Given the description of an element on the screen output the (x, y) to click on. 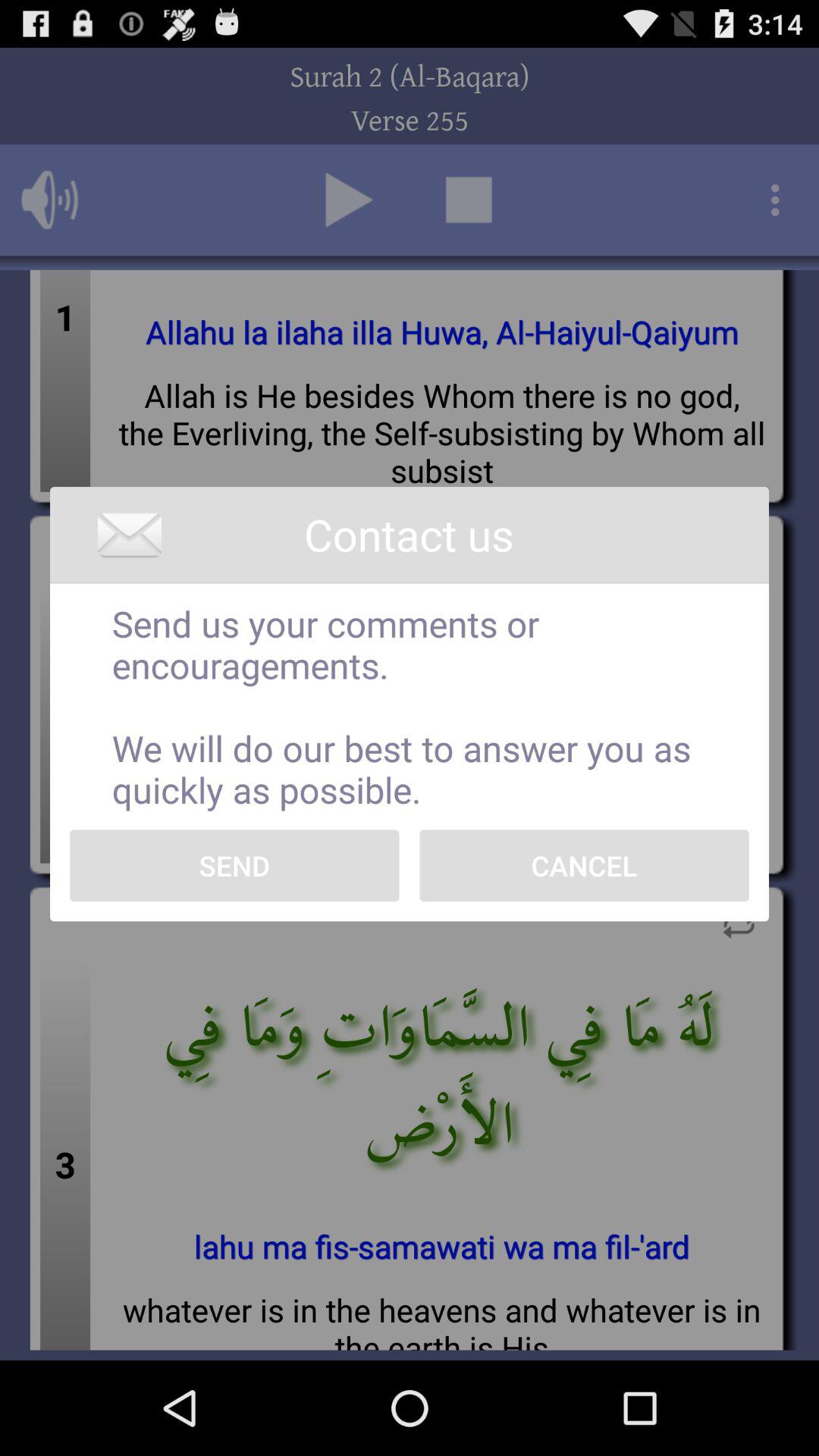
jump to cancel (584, 865)
